Given the description of an element on the screen output the (x, y) to click on. 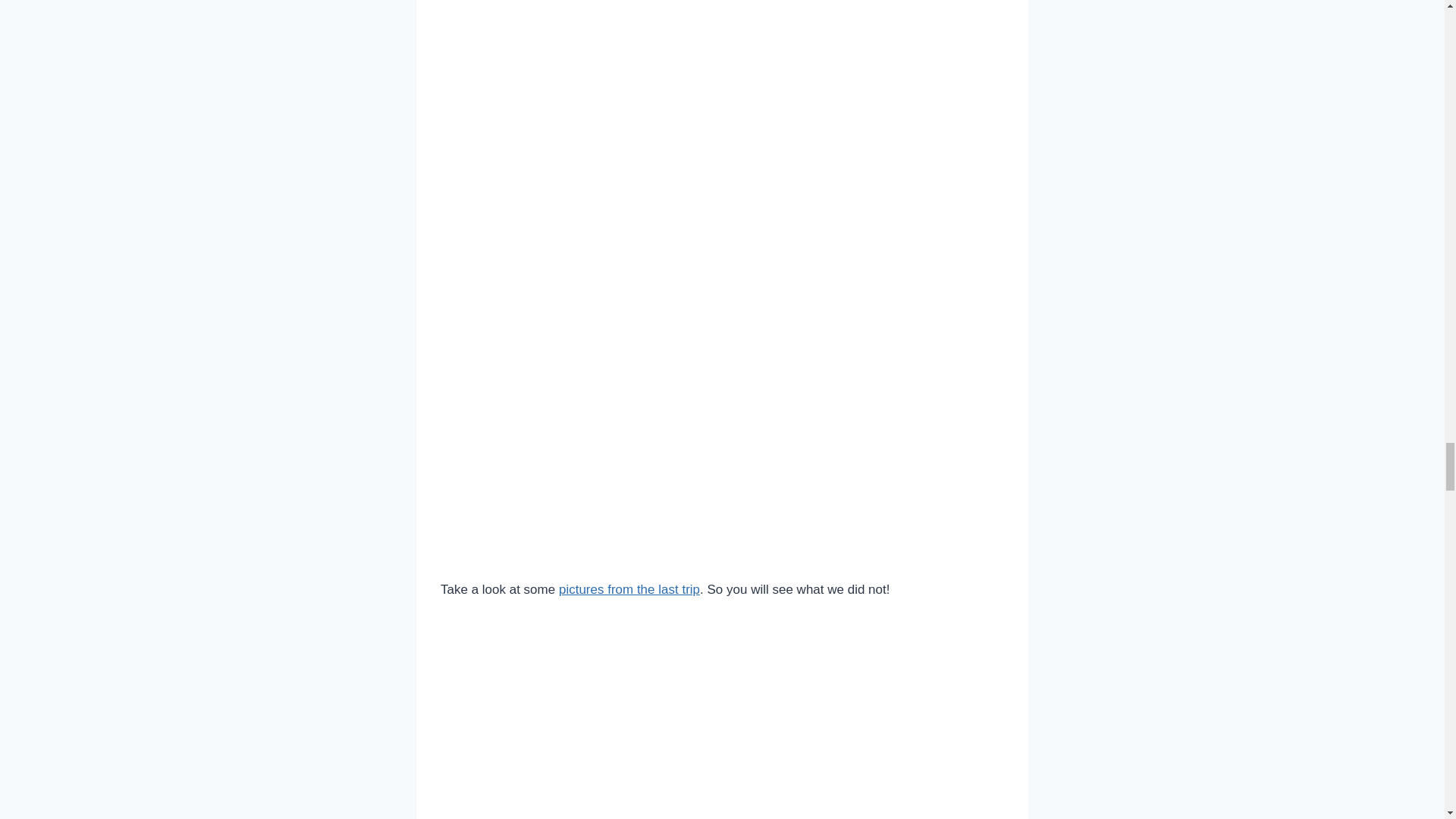
pictures from the last trip (629, 589)
